Given the description of an element on the screen output the (x, y) to click on. 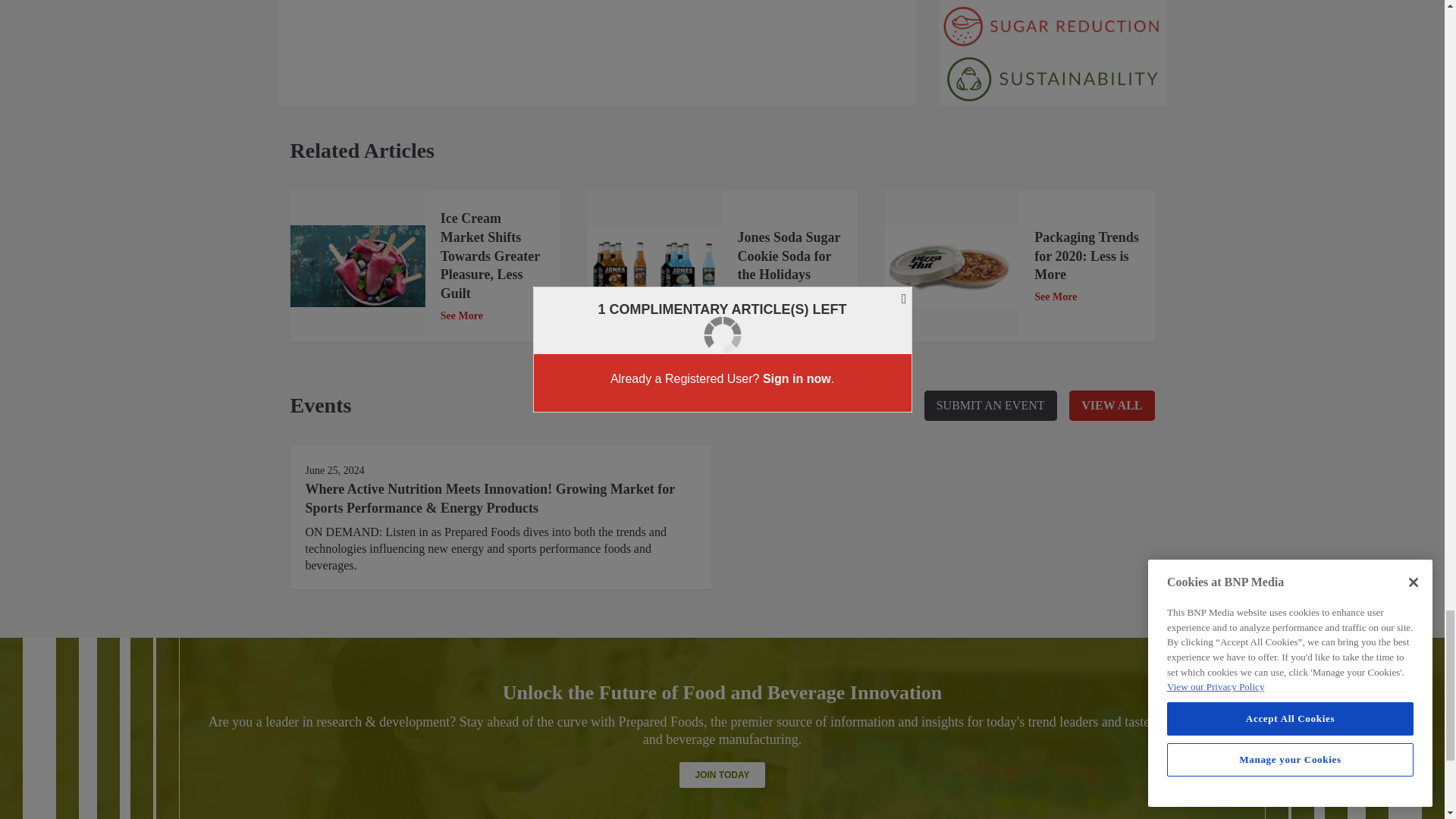
Pizza Hut Compostable Round Pizza Box (951, 266)
